Given the description of an element on the screen output the (x, y) to click on. 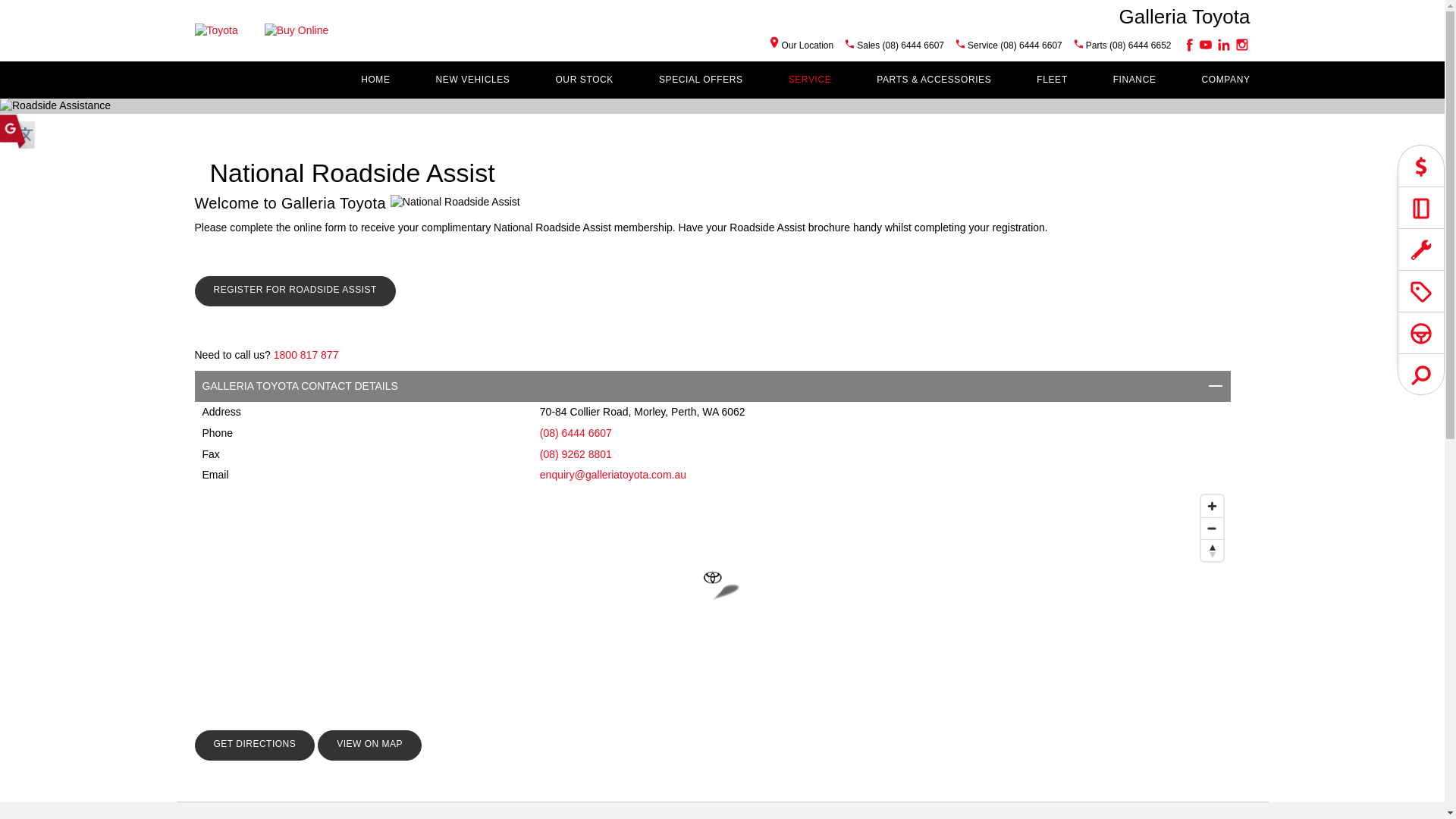
(08) 9262 8801 Element type: text (575, 454)
Parts (08) 6444 6652 Element type: text (1128, 45)
GET DIRECTIONS Element type: text (254, 745)
Zoom in Element type: hover (1212, 506)
LinkedIn Element type: text (1222, 44)
(08) 6444 6607 Element type: text (575, 432)
FINANCE Element type: text (1134, 80)
Instagram Element type: text (1241, 44)
Sales (08) 6444 6607 Element type: text (900, 45)
1800 817 877 Element type: text (305, 354)
GALLERIA TOYOTA CONTACT DETAILS Element type: text (712, 385)
SERVICE Element type: text (809, 80)
Zoom out Element type: hover (1212, 528)
FLEET Element type: text (1051, 80)
REGISTER FOR ROADSIDE ASSIST Element type: text (294, 291)
HOME Element type: text (374, 80)
Reset bearing to north Element type: hover (1212, 550)
enquiry@galleriatoyota.com.au Element type: text (612, 474)
OUR STOCK Element type: text (584, 80)
NEW VEHICLES Element type: text (473, 80)
Service (08) 6444 6607 Element type: text (1014, 45)
COMPANY Element type: text (1225, 80)
SPECIAL OFFERS Element type: text (700, 80)
Galleria Toyota Element type: text (1184, 15)
YouTube Element type: text (1204, 44)
VIEW ON MAP Element type: text (369, 745)
PARTS & ACCESSORIES Element type: text (933, 80)
Facebook Element type: text (1186, 44)
Our Location Element type: text (802, 45)
